Given the description of an element on the screen output the (x, y) to click on. 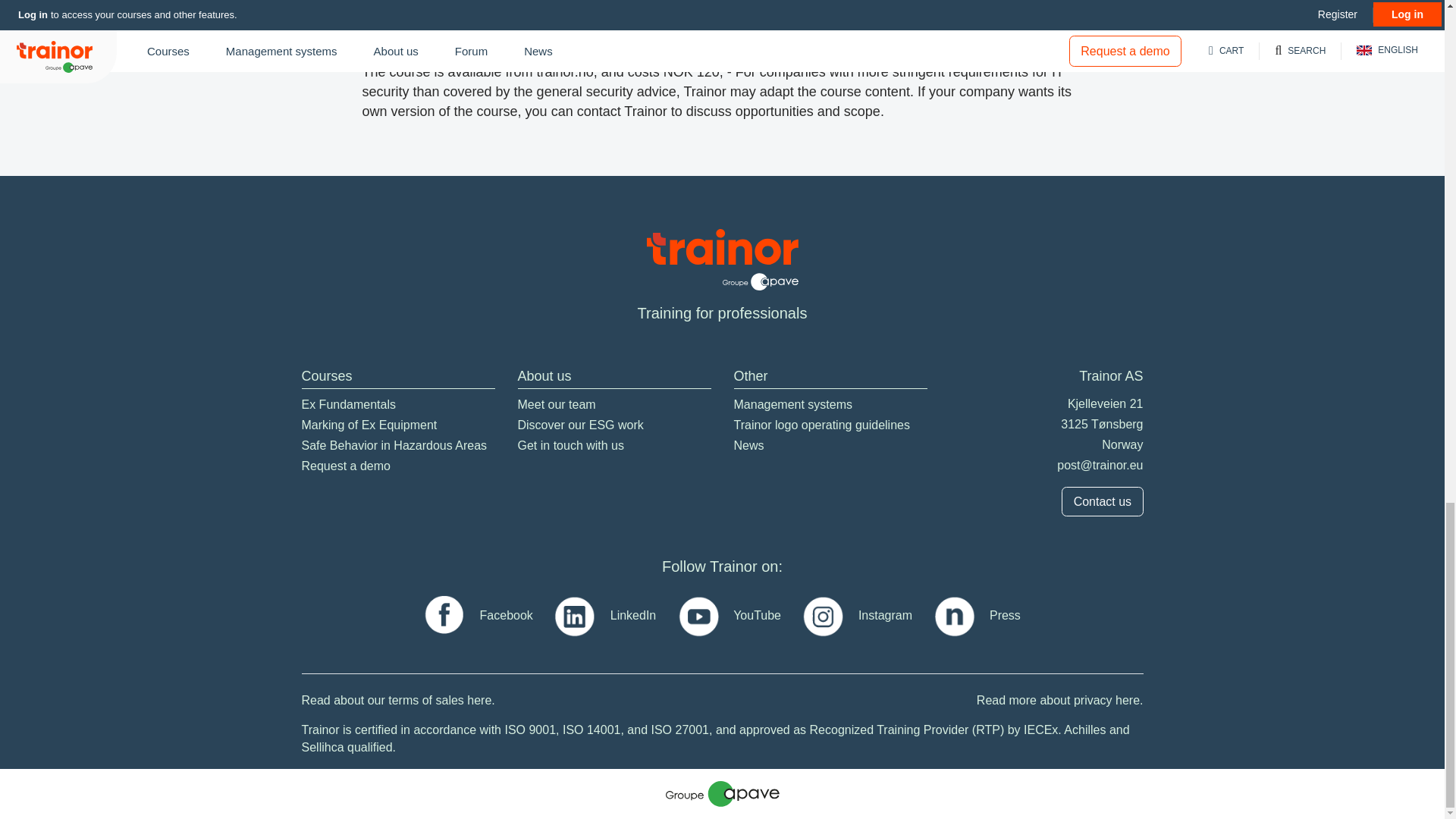
Marking of Ex Equipment (369, 425)
Safe Behavior in Hazardous Areas (394, 446)
Discover our ESG work (579, 425)
Ex Fundamentals (348, 405)
About us (543, 376)
Courses (326, 376)
Meet our team (555, 405)
Request a demo (345, 466)
